Given the description of an element on the screen output the (x, y) to click on. 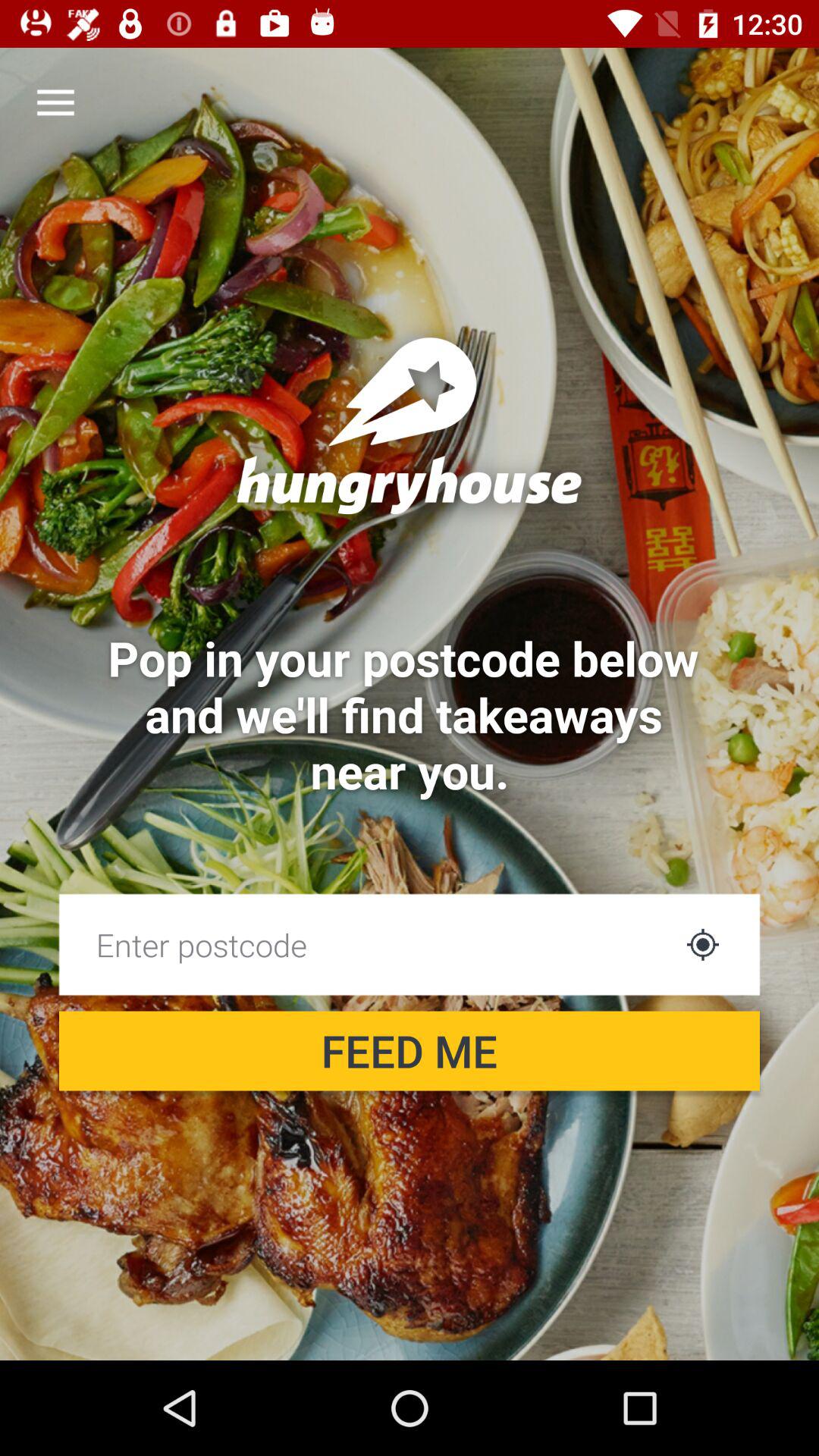
open item below the pop in your (365, 944)
